Given the description of an element on the screen output the (x, y) to click on. 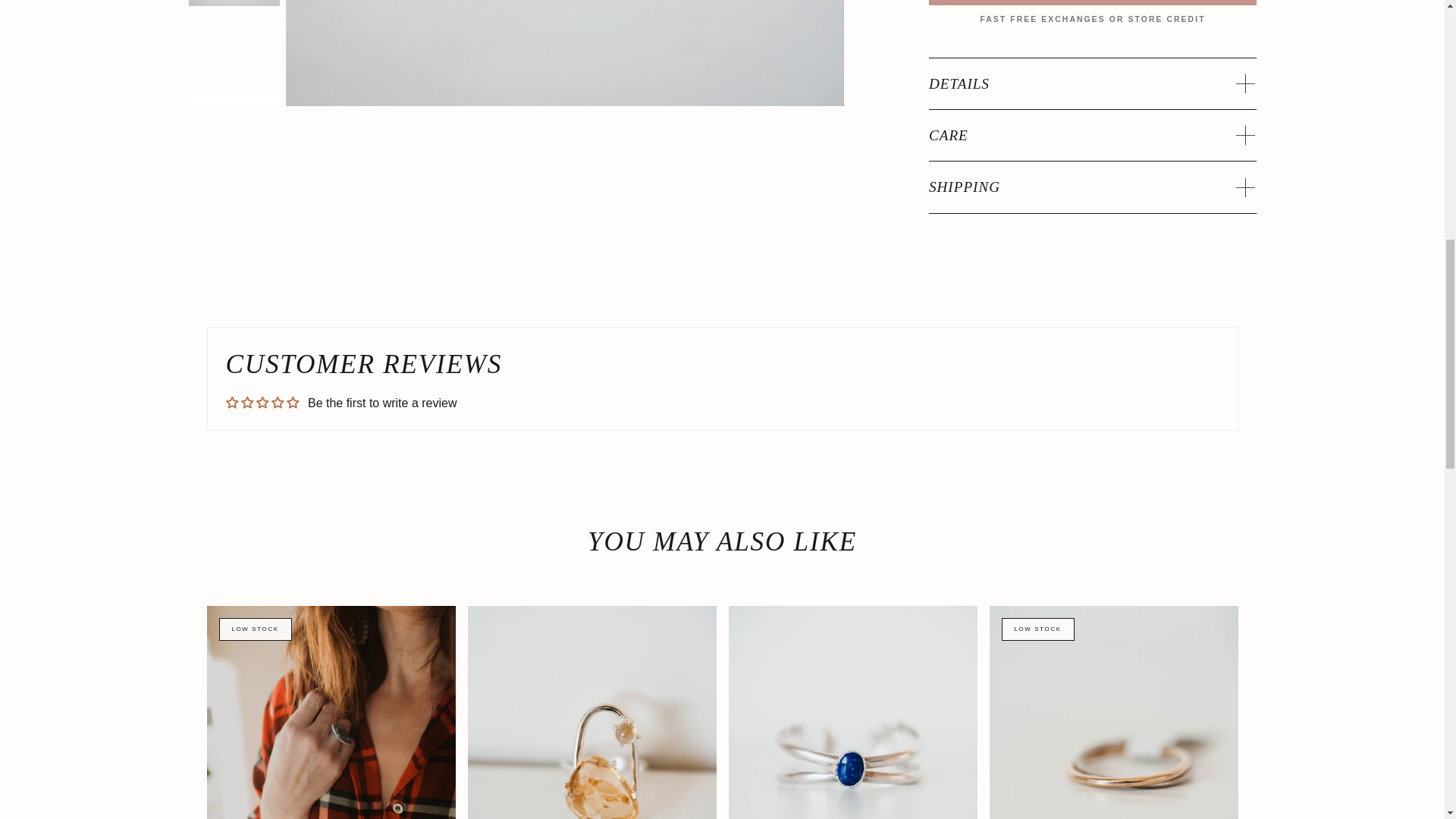
LOW STOCK (330, 712)
ADD TO CART (1091, 2)
